Given the description of an element on the screen output the (x, y) to click on. 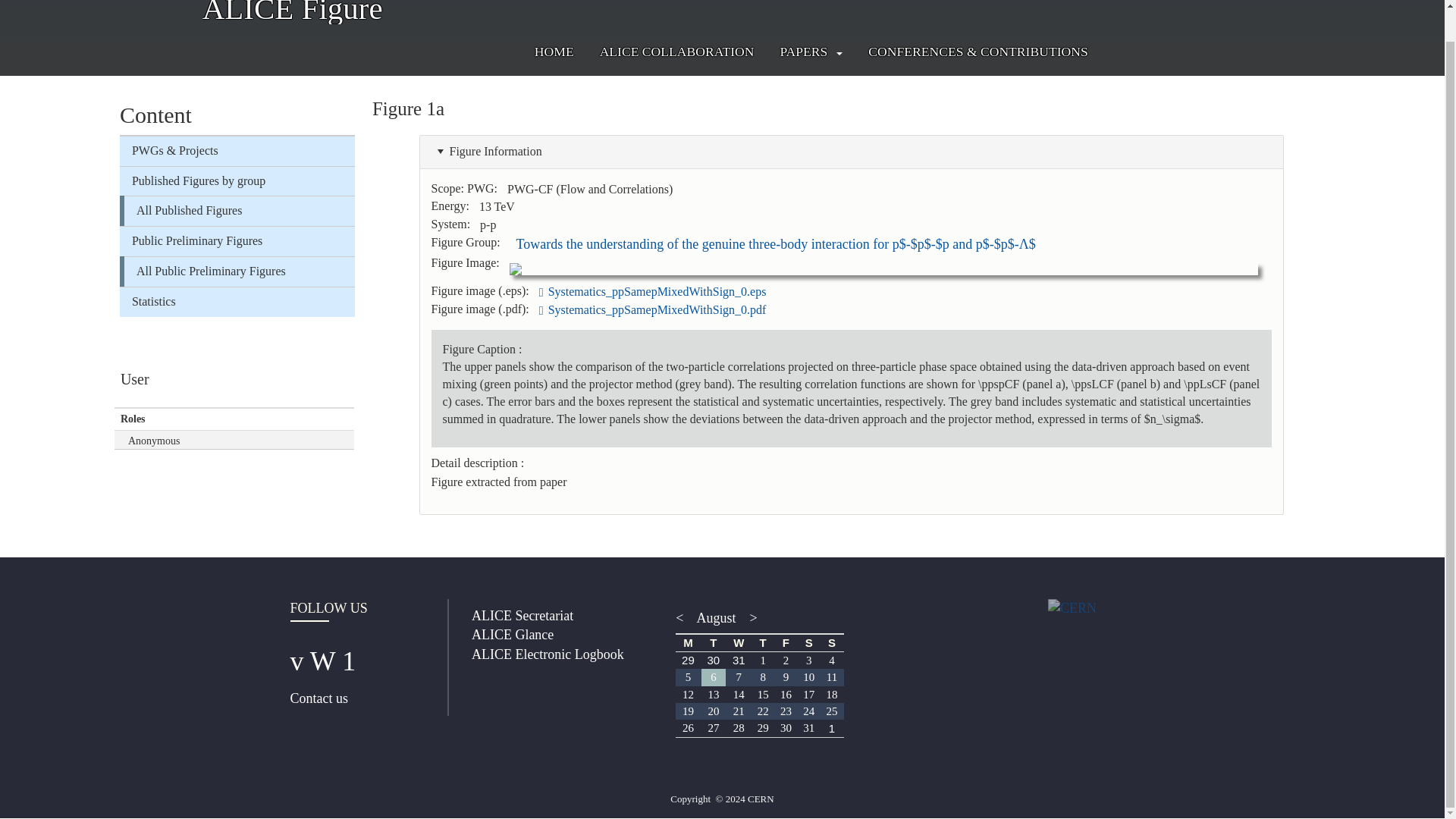
All Published Figures (239, 210)
View full page month (716, 617)
Contact us (318, 698)
Statistics (237, 301)
ALICE COLLABORATION (676, 52)
Public Preliminary Figures (237, 241)
ALICE Glance (512, 634)
View full previous month (682, 617)
ALICE Electronic Logbook (547, 654)
29 (687, 659)
